Given the description of an element on the screen output the (x, y) to click on. 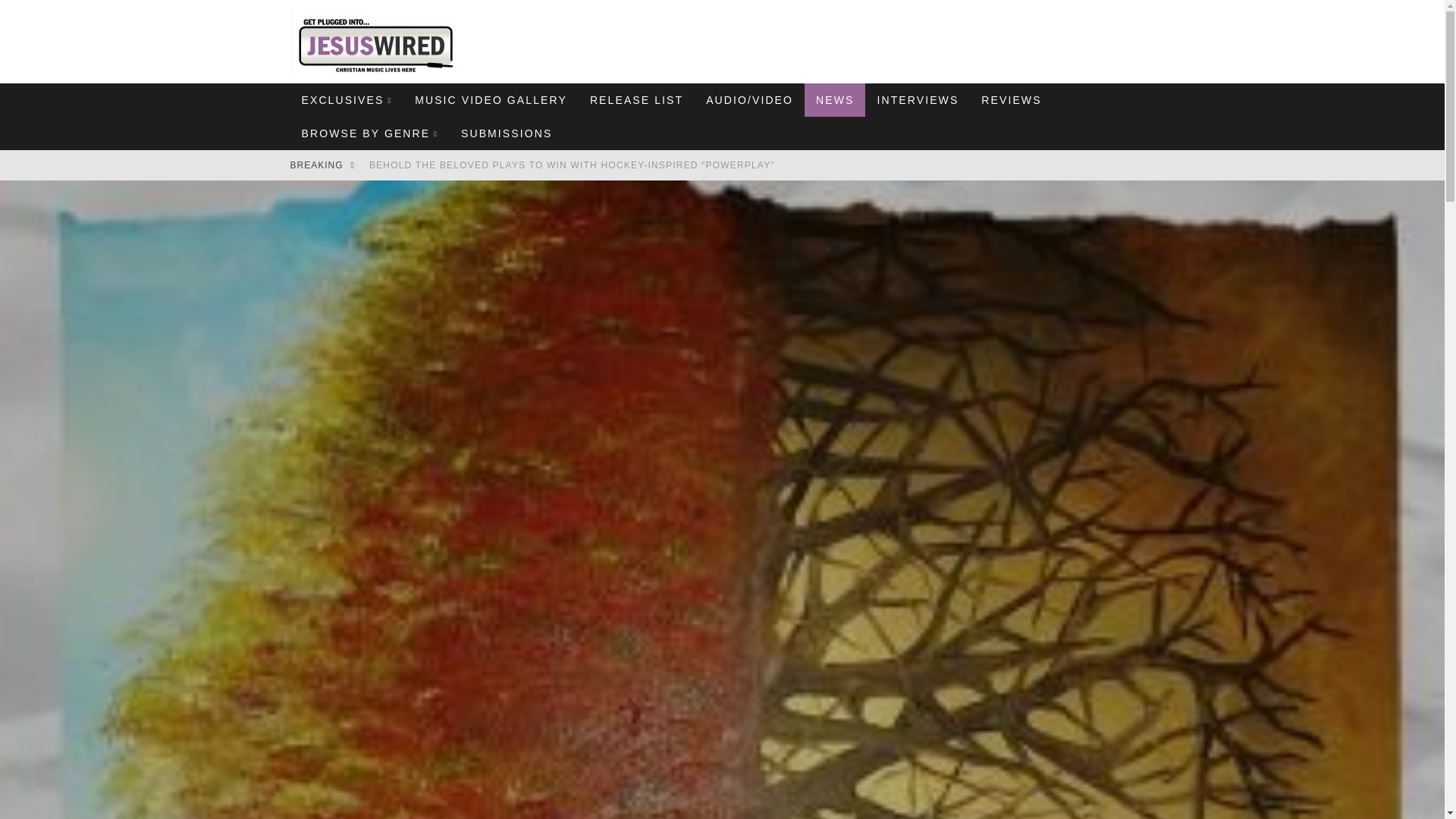
MUSIC VIDEO GALLERY (490, 100)
RELEASE LIST (636, 100)
EXCLUSIVES (346, 100)
